Given the description of an element on the screen output the (x, y) to click on. 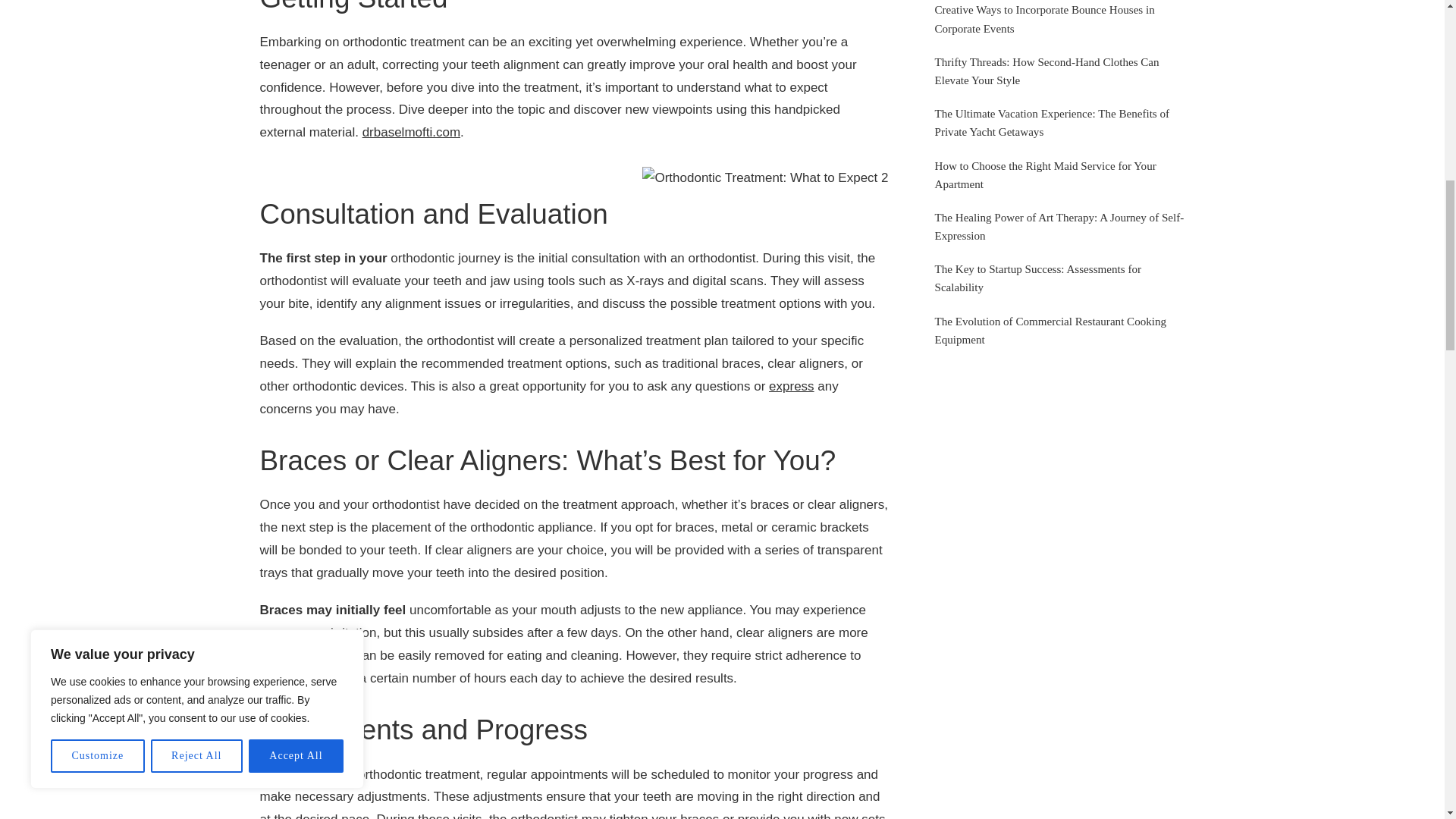
drbaselmofti.com (411, 132)
express (790, 386)
